Given the description of an element on the screen output the (x, y) to click on. 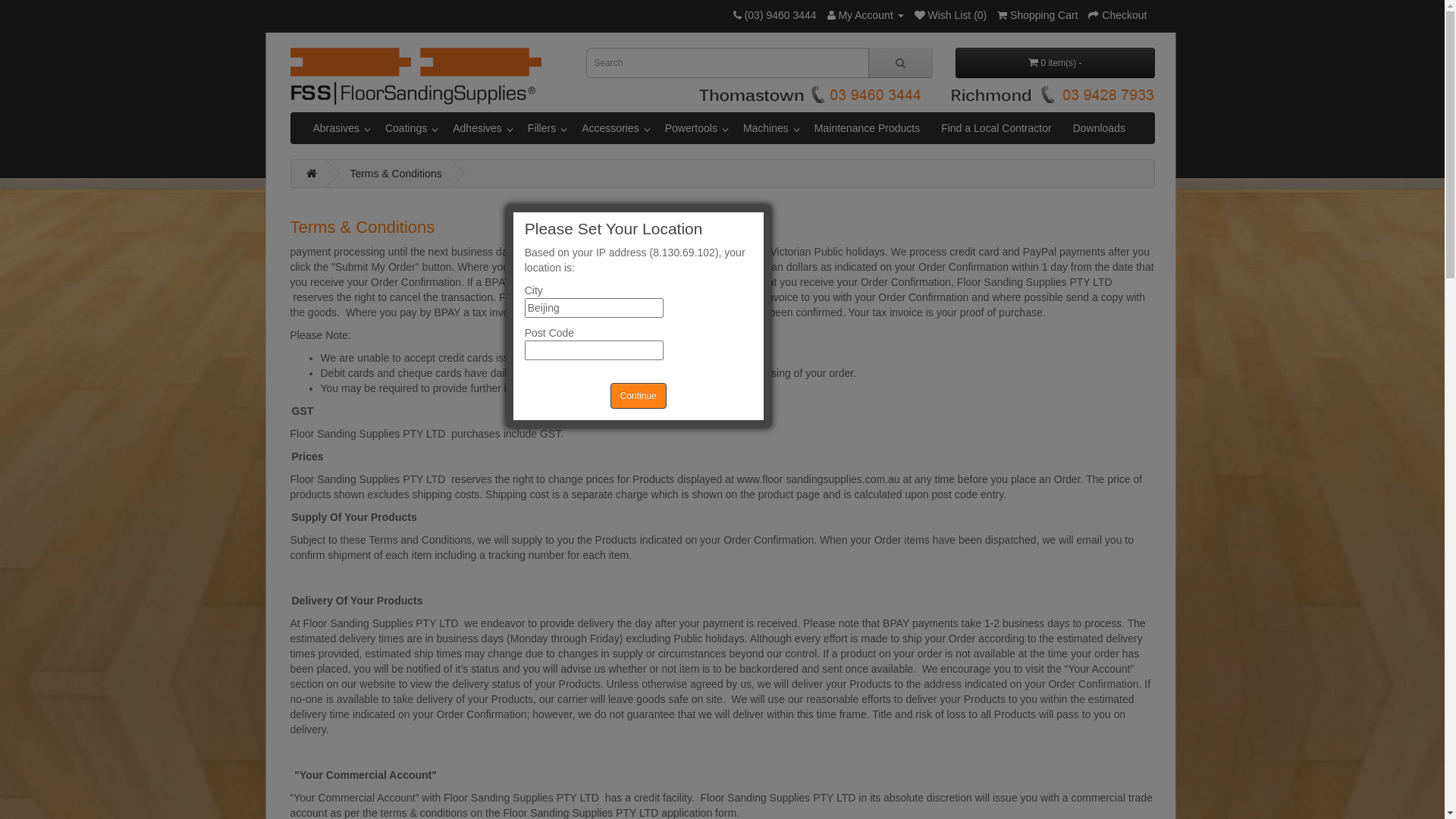
Adhesives Element type: text (479, 127)
My Account Element type: text (865, 15)
Machines Element type: text (767, 127)
Fillers Element type: text (544, 127)
Coatings Element type: text (408, 127)
Abrasives Element type: text (337, 127)
Accessories Element type: text (612, 127)
Find a Local Contractor Element type: text (996, 127)
Checkout Element type: text (1117, 15)
0 item(s) - Element type: text (1054, 62)
Powertools Element type: text (693, 127)
Maintenance Products Element type: text (866, 127)
Terms & Conditions Element type: text (395, 173)
Shopping Cart Element type: text (1037, 15)
Floorsanding Supplies Element type: hover (414, 75)
Downloads Element type: text (1098, 127)
Continue Element type: text (638, 395)
Wish List (0) Element type: text (950, 15)
